Given the description of an element on the screen output the (x, y) to click on. 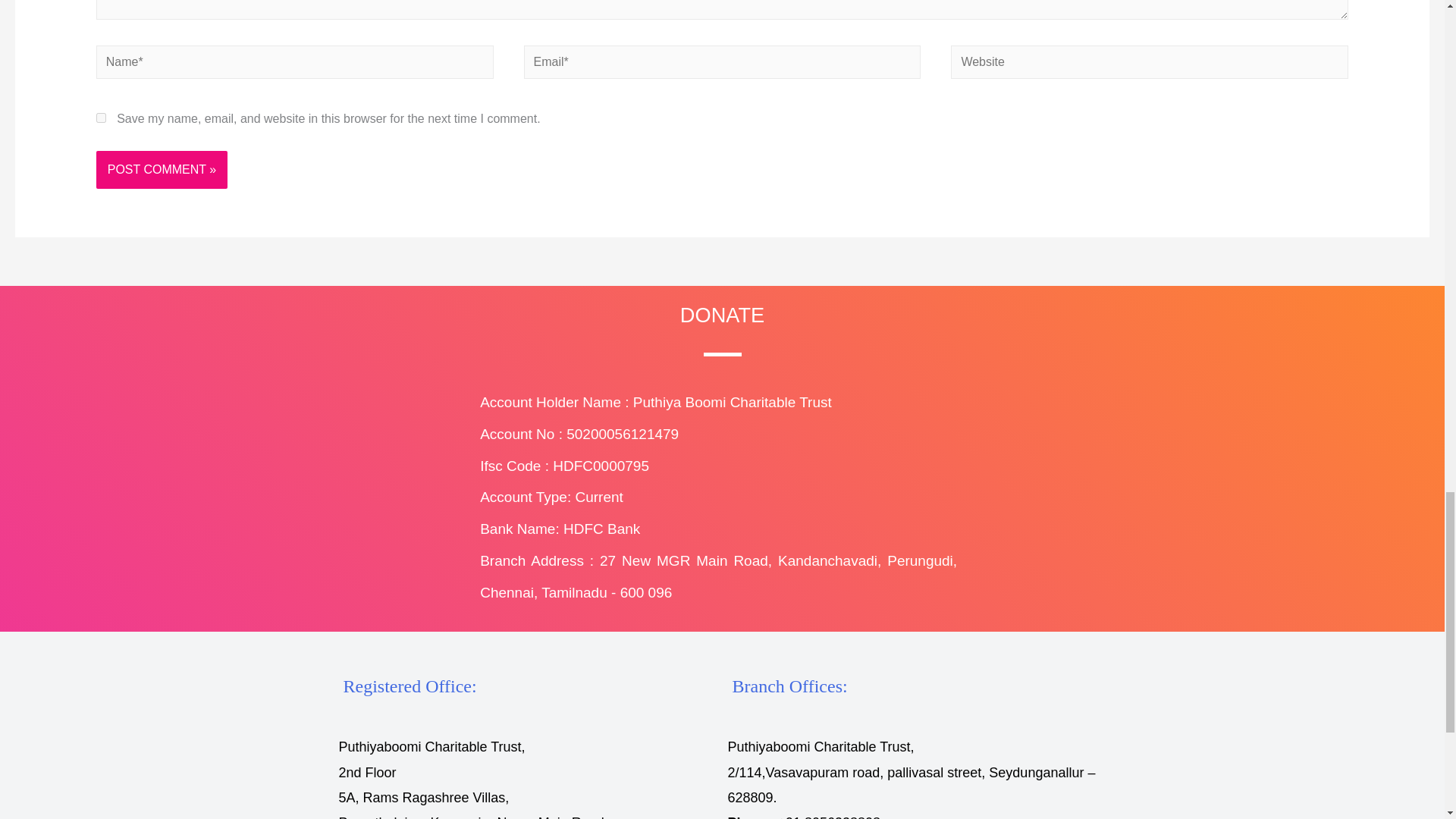
yes (101, 117)
Branch Offices (789, 686)
Branch Offices: (789, 686)
Registered Office: (409, 686)
Registered Office (409, 686)
